Given the description of an element on the screen output the (x, y) to click on. 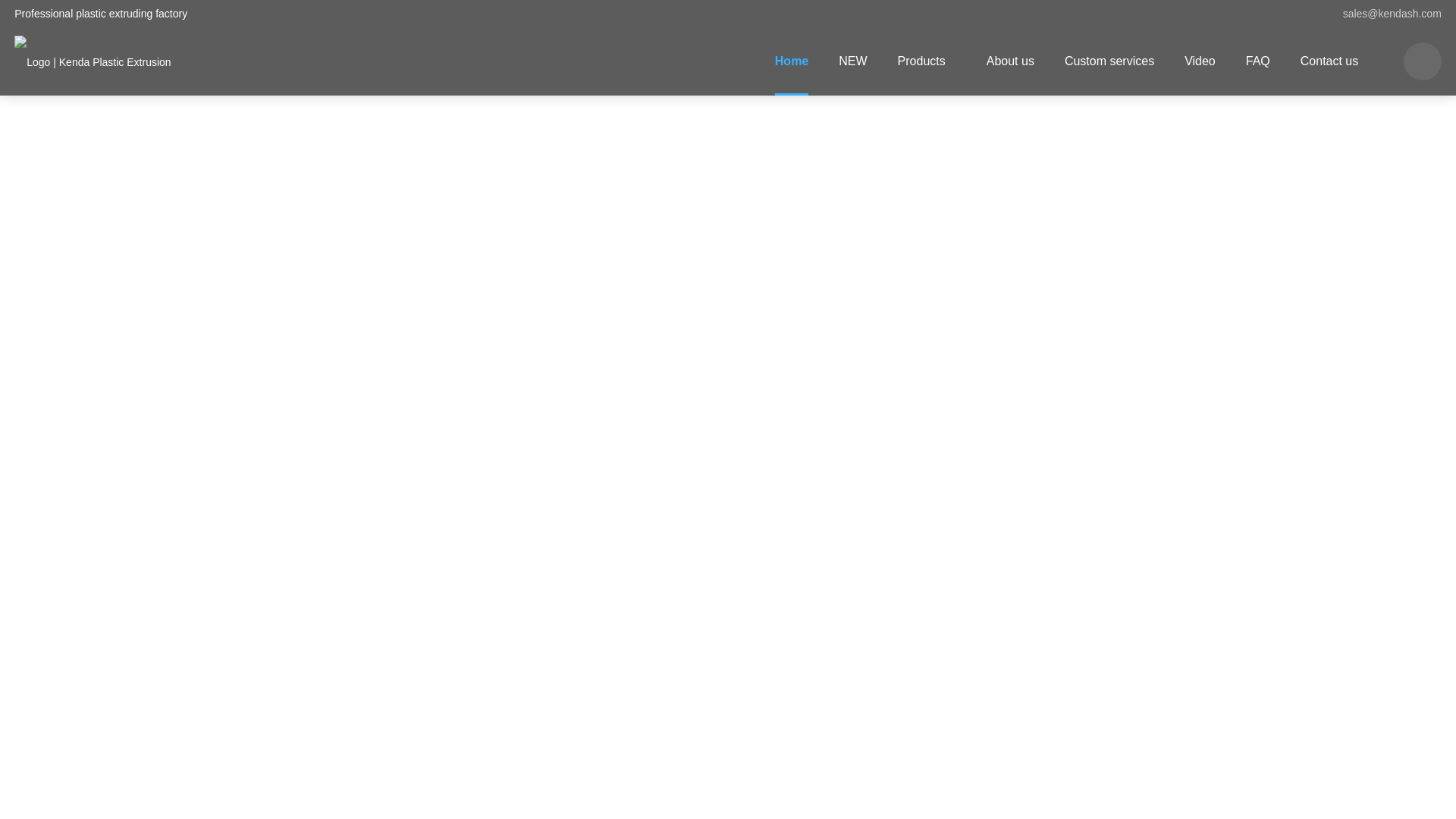
NEW (853, 61)
Video (1199, 61)
FAQ (1257, 61)
Contact us (1329, 61)
About us (1010, 61)
Home (792, 61)
Products (926, 61)
Custom services (1109, 61)
